Given the description of an element on the screen output the (x, y) to click on. 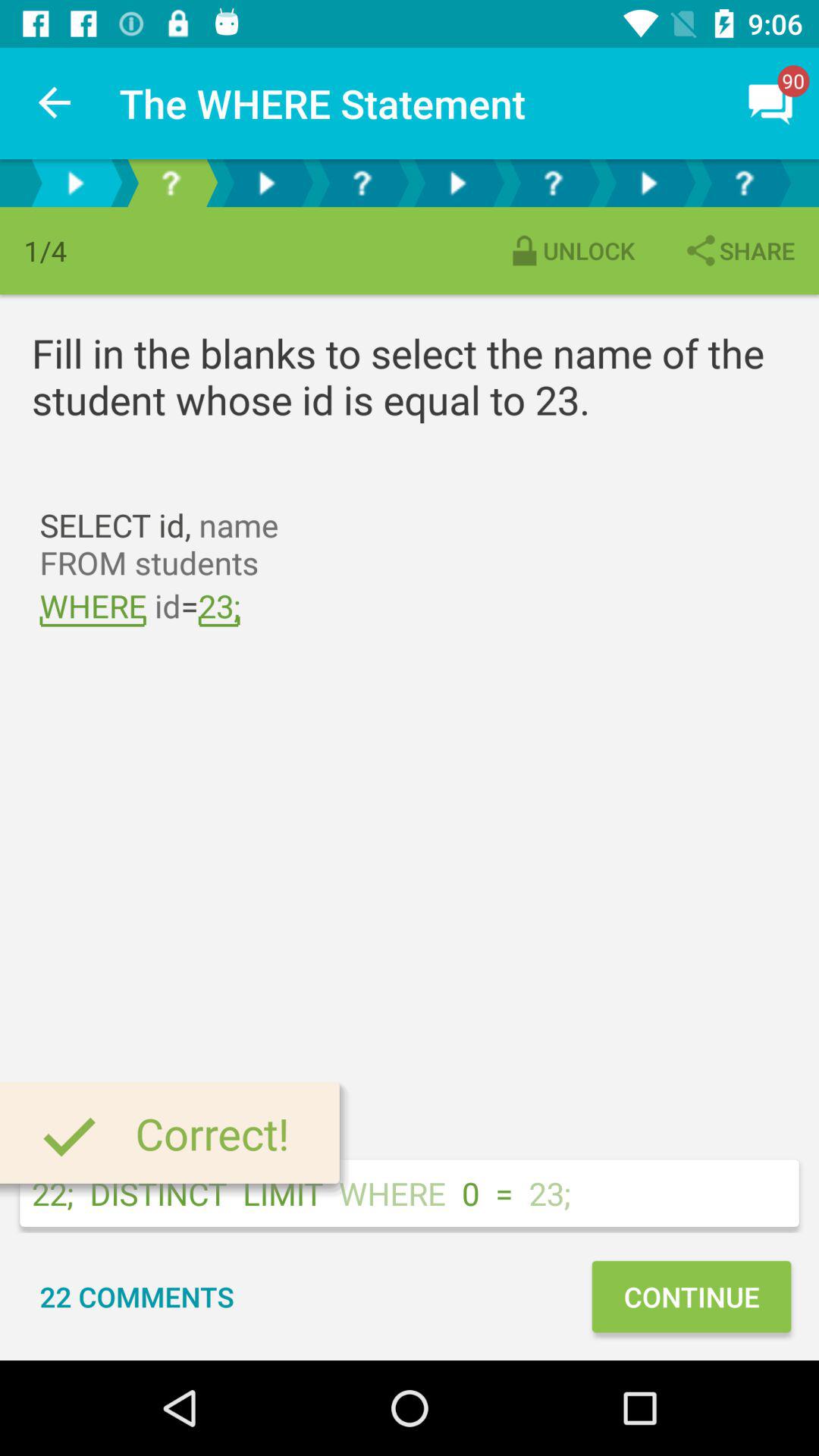
scroll to 22 comments (136, 1296)
